Given the description of an element on the screen output the (x, y) to click on. 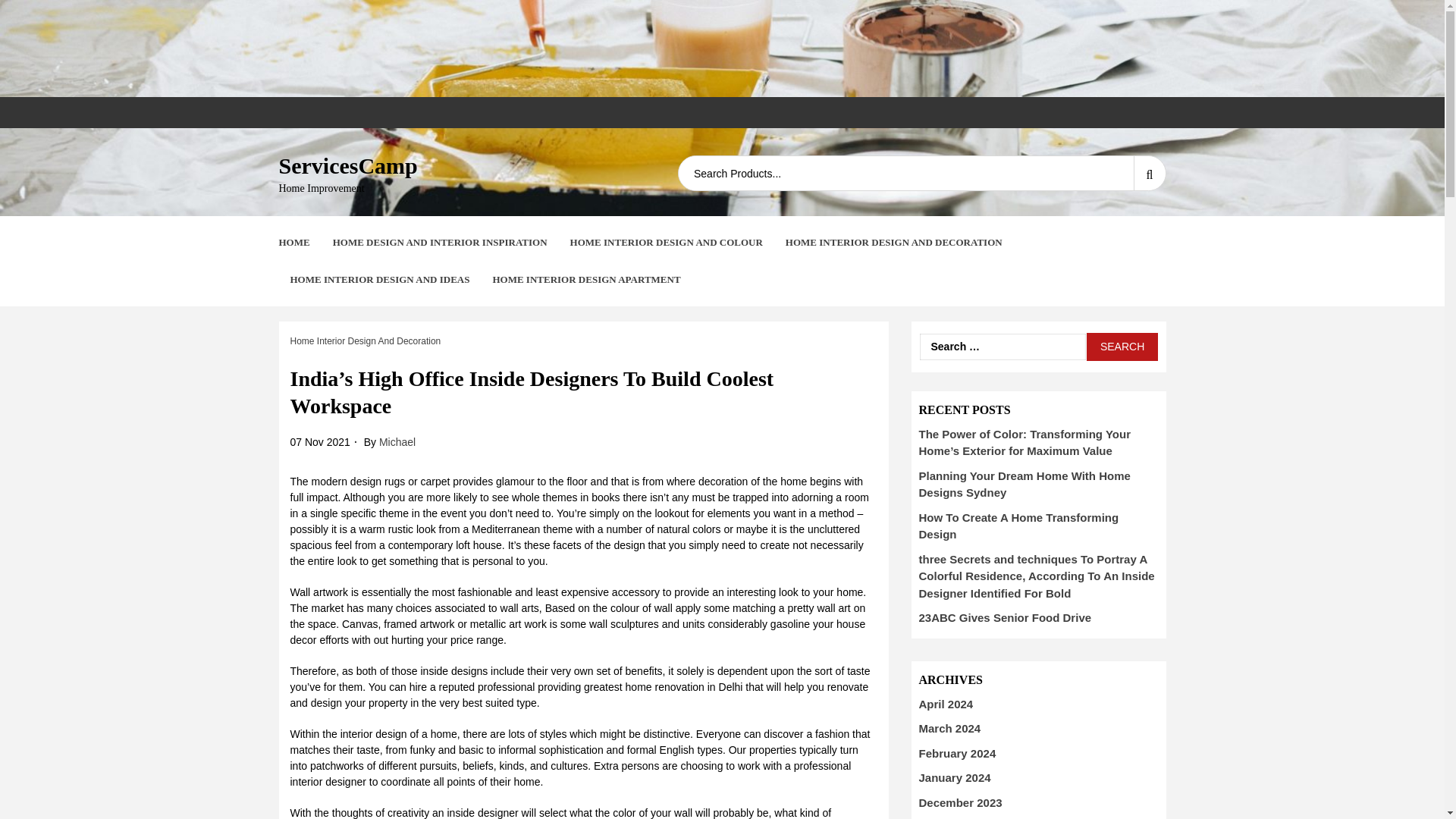
February 2024 (956, 753)
How To Create A Home Transforming Design (1018, 526)
Home Interior Design And Decoration (365, 341)
Search (1122, 346)
Michael (396, 441)
December 2023 (960, 802)
Search (1122, 346)
January 2024 (954, 777)
HOME INTERIOR DESIGN AND COLOUR (666, 242)
April 2024 (946, 703)
HOME DESIGN AND INTERIOR INSPIRATION (440, 242)
HOME INTERIOR DESIGN APARTMENT (585, 279)
HOME (294, 242)
HOME INTERIOR DESIGN AND DECORATION (894, 242)
ServicesCamp (348, 165)
